Given the description of an element on the screen output the (x, y) to click on. 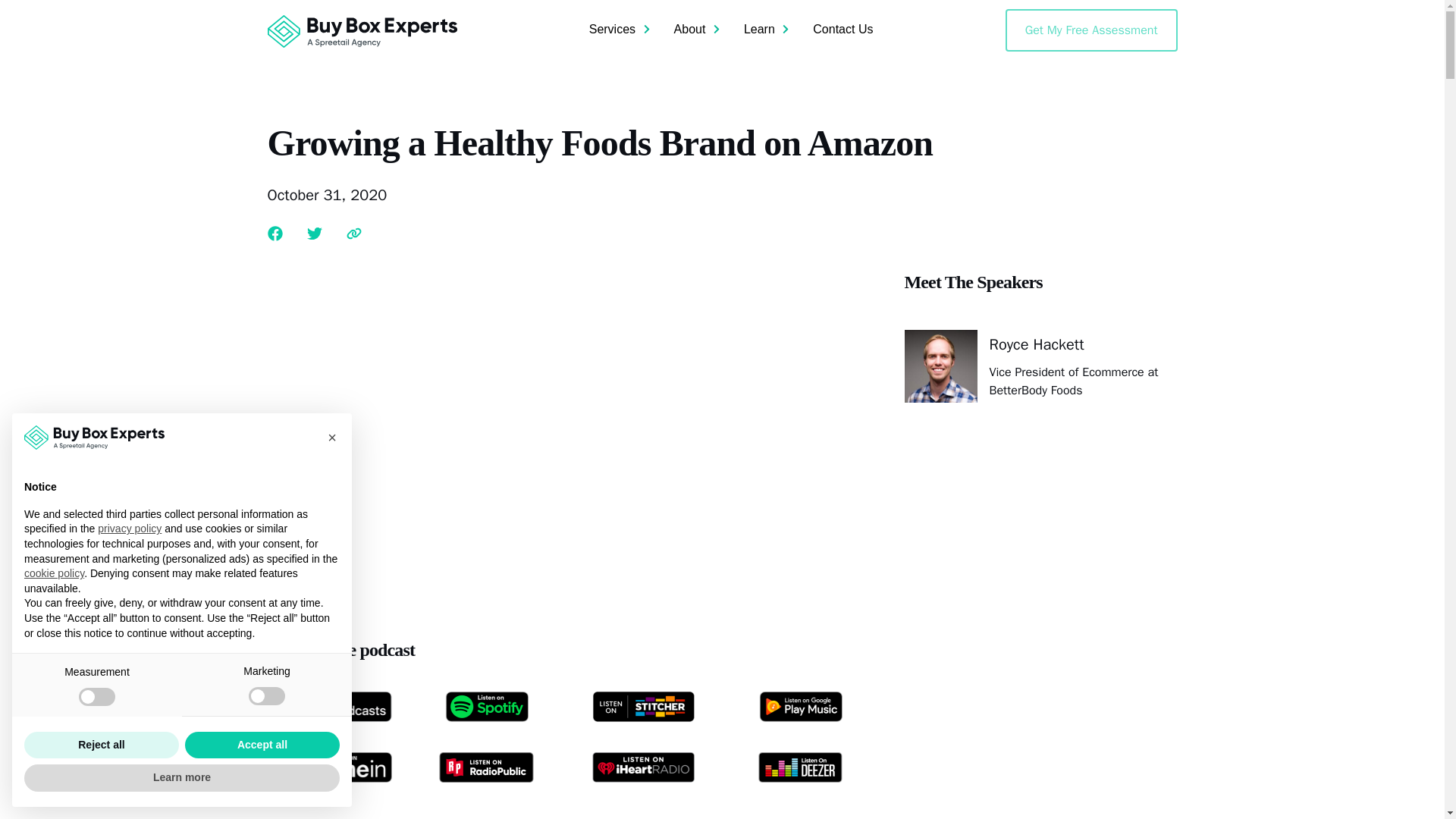
Get My Free Assessment (1091, 30)
cookie policy (54, 573)
Learn more (181, 777)
privacy policy (129, 528)
Learn (766, 29)
false (266, 696)
false (96, 696)
Contact Us (842, 29)
Accept all (261, 745)
